Given the description of an element on the screen output the (x, y) to click on. 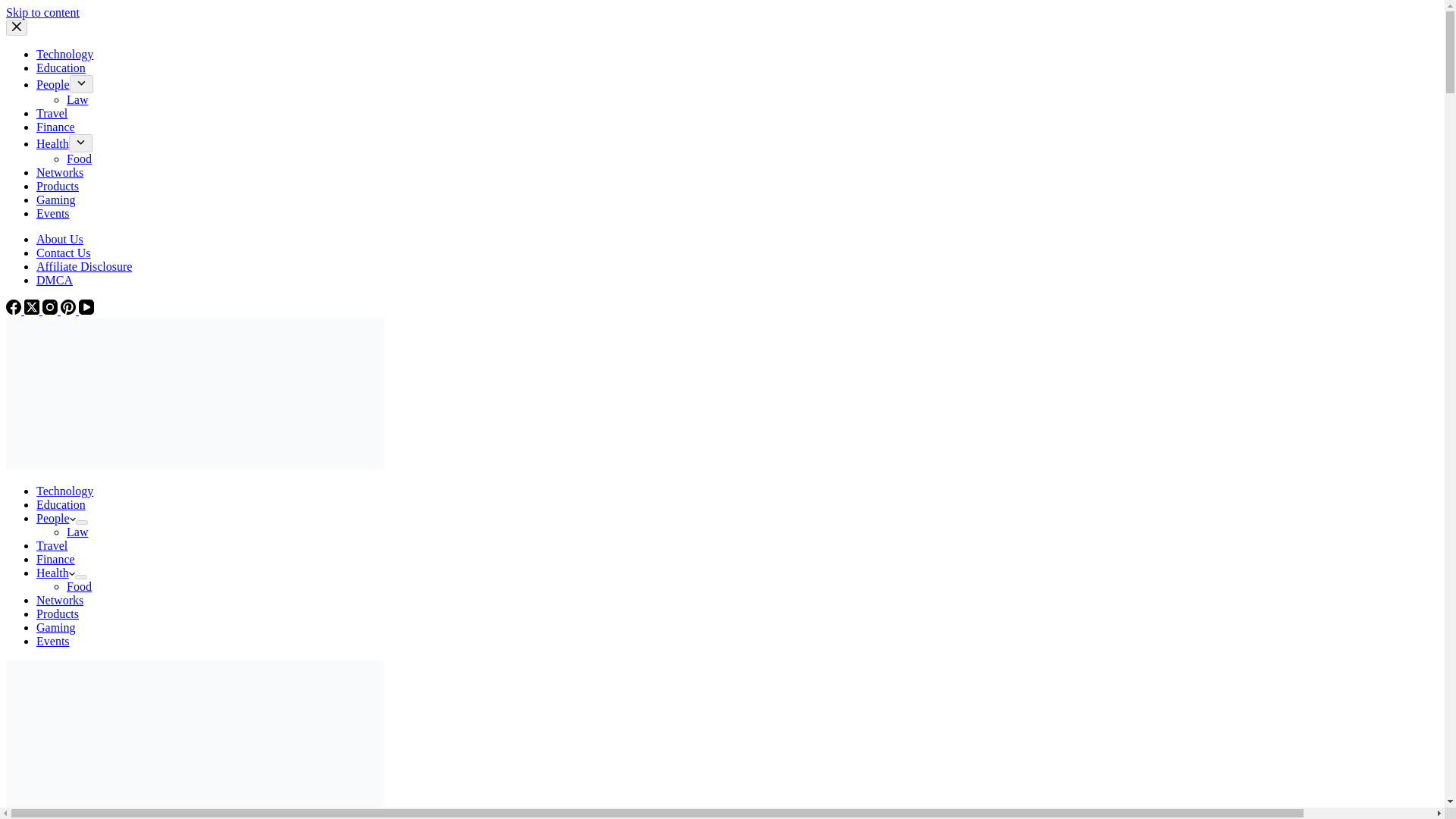
Law (76, 531)
Products (57, 185)
Health (55, 572)
Travel (51, 545)
Networks (59, 172)
Finance (55, 126)
Skip to content (42, 11)
Technology (64, 53)
Food (78, 158)
Finance (55, 558)
Contact Us (63, 252)
Education (60, 67)
Travel (51, 113)
Affiliate Disclosure (84, 266)
DMCA (54, 279)
